Given the description of an element on the screen output the (x, y) to click on. 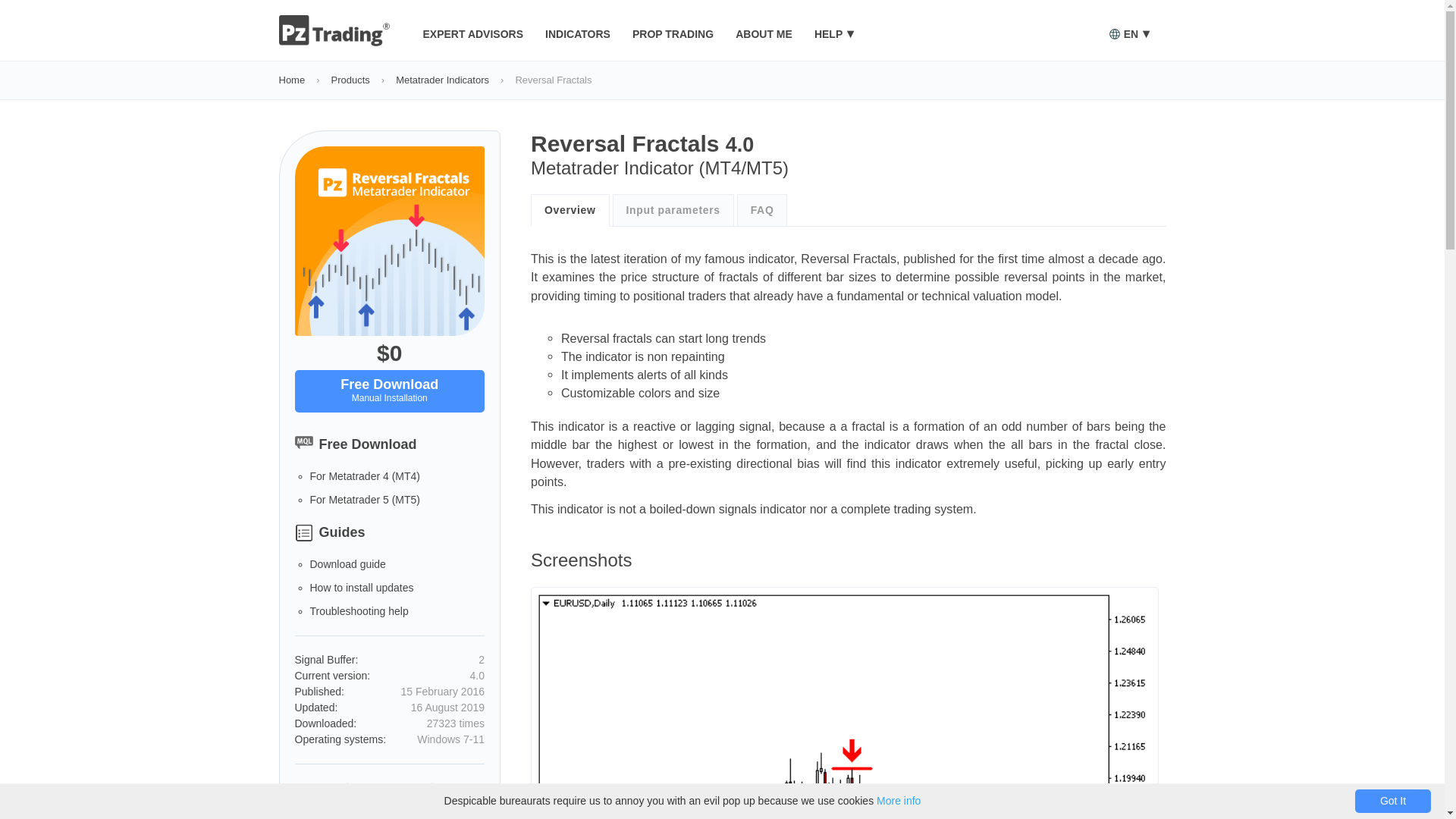
About me (769, 33)
Download guide (346, 563)
Expert Advisors for MT4 and MT5 (478, 33)
FAQ (761, 210)
PZ TRADING - Free Indicators and EAs for Metatrader (336, 42)
EXPERT ADVISORS (478, 33)
Trader funding program for talented traders (677, 33)
Home (292, 79)
How to update products from the metatrader market (360, 587)
How to troubleshoot eas and indicators (357, 611)
